Given the description of an element on the screen output the (x, y) to click on. 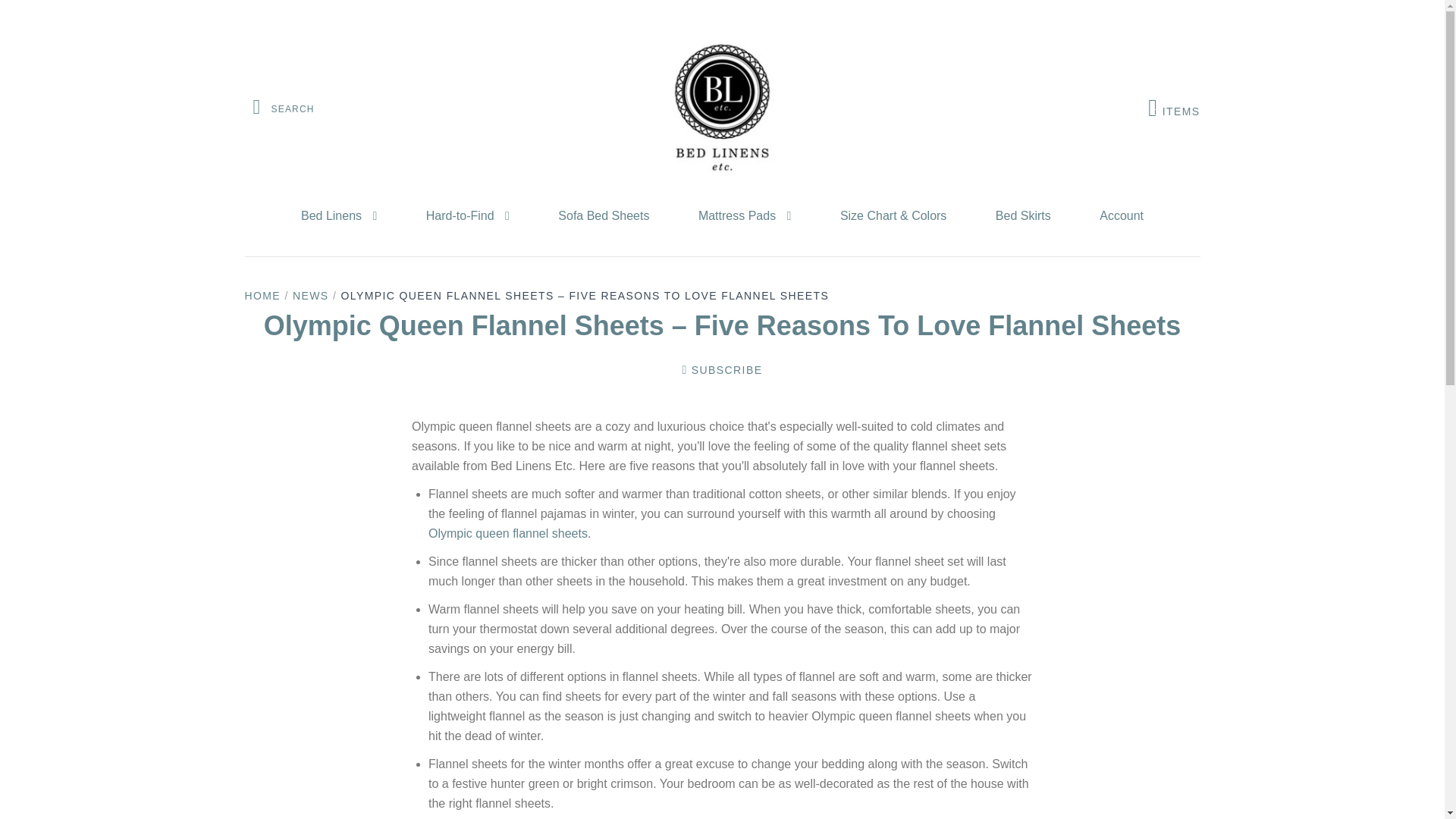
Bed Linens (338, 215)
Olympic Queen Flannel Sheets (508, 532)
Hard-to-Find (467, 215)
